Given the description of an element on the screen output the (x, y) to click on. 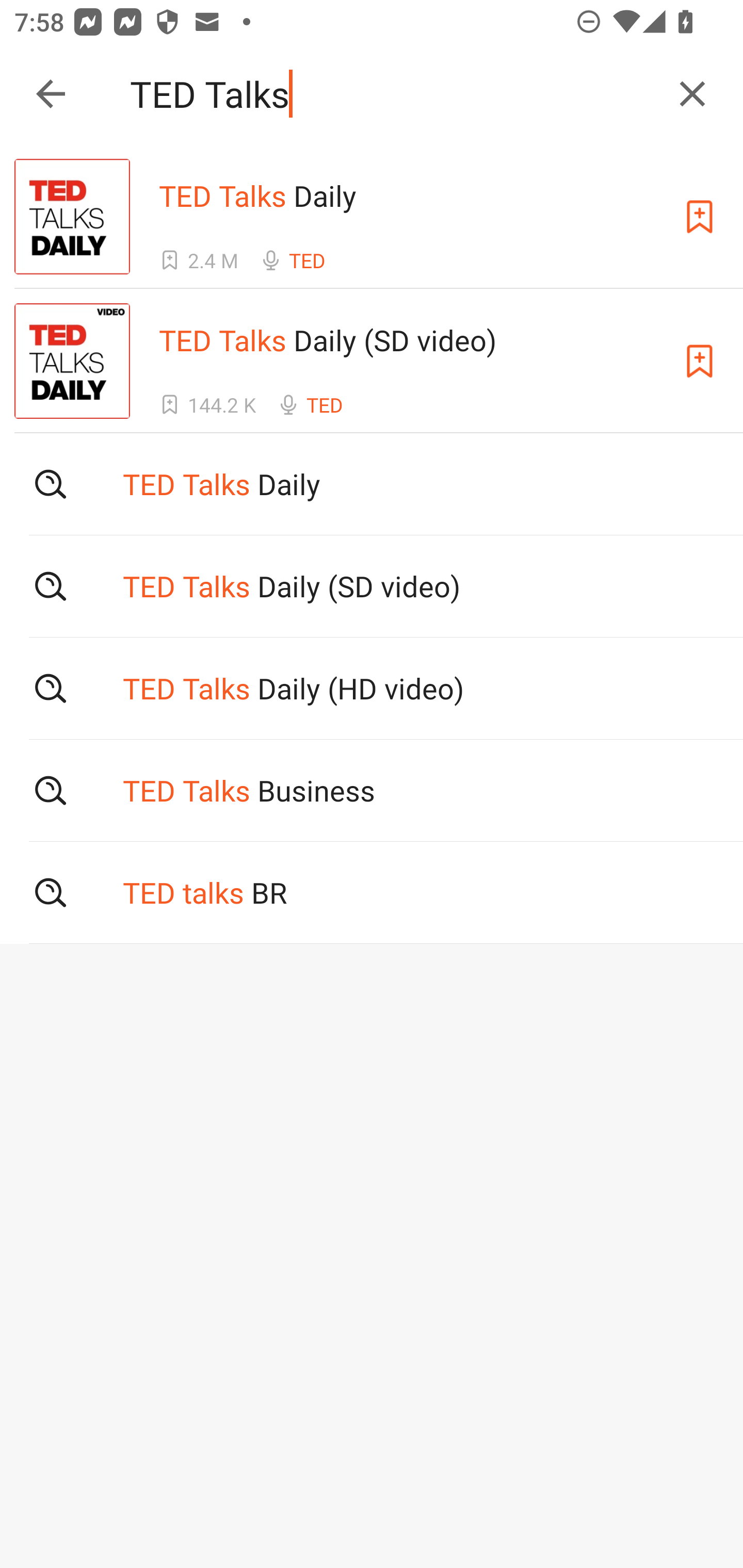
Collapse (50, 93)
Clear query (692, 93)
TED Talks (393, 94)
Subscribe (699, 216)
Subscribe (699, 360)
 TED Talks Daily (371, 483)
 TED Talks Daily (SD video) (371, 585)
 TED Talks Daily (HD video) (371, 688)
 TED Talks Business (371, 791)
 TED talks BR (371, 892)
